Given the description of an element on the screen output the (x, y) to click on. 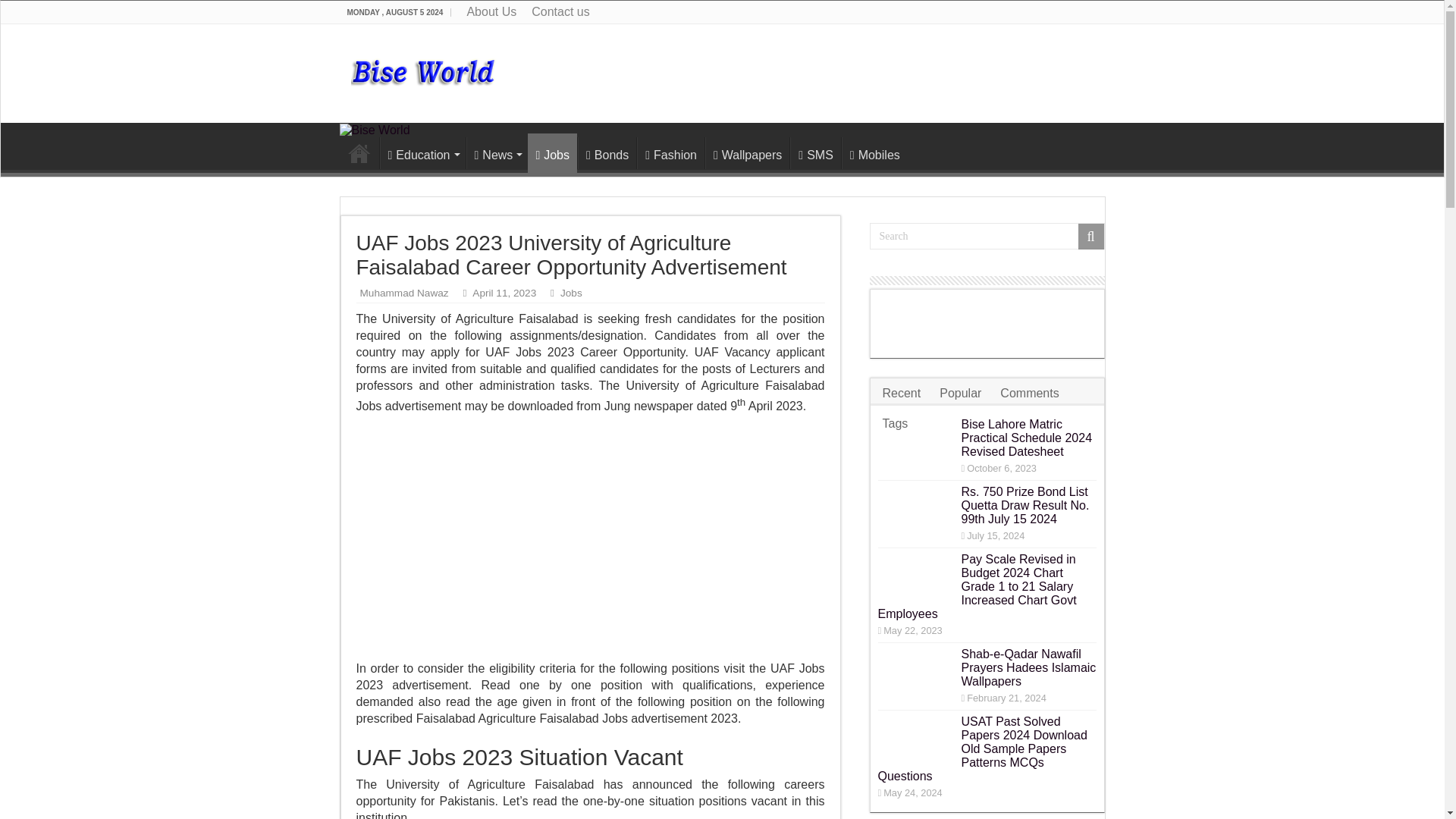
Search (986, 235)
Muhammad Nawaz (403, 292)
News (496, 152)
About Us (491, 11)
Bise World (374, 128)
Wallpapers (746, 152)
Contact us (560, 11)
Home (358, 152)
Bonds (607, 152)
Education (421, 152)
Jobs (551, 152)
Mobiles (874, 152)
Fashion (670, 152)
SMS (815, 152)
Bise World (423, 68)
